Given the description of an element on the screen output the (x, y) to click on. 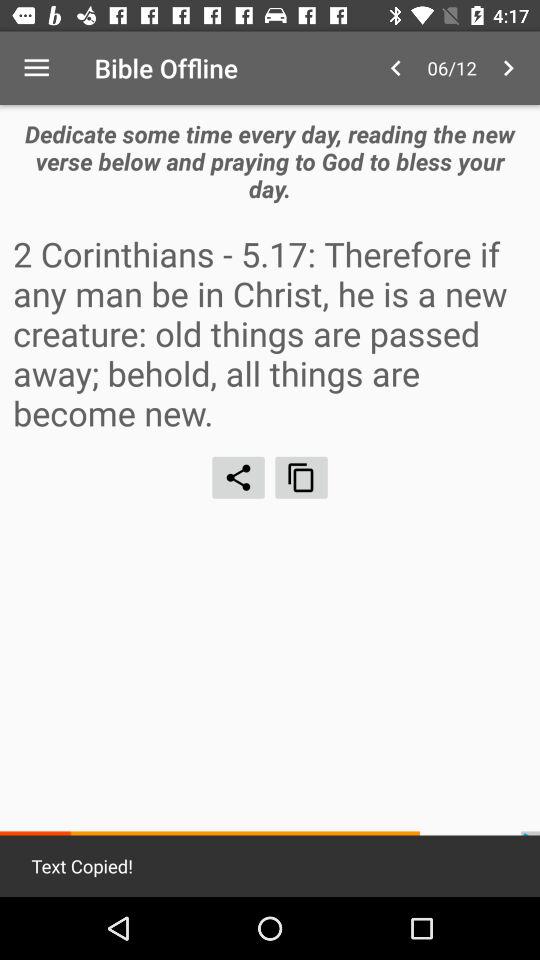
open item to the left of 06/12 icon (395, 67)
